Given the description of an element on the screen output the (x, y) to click on. 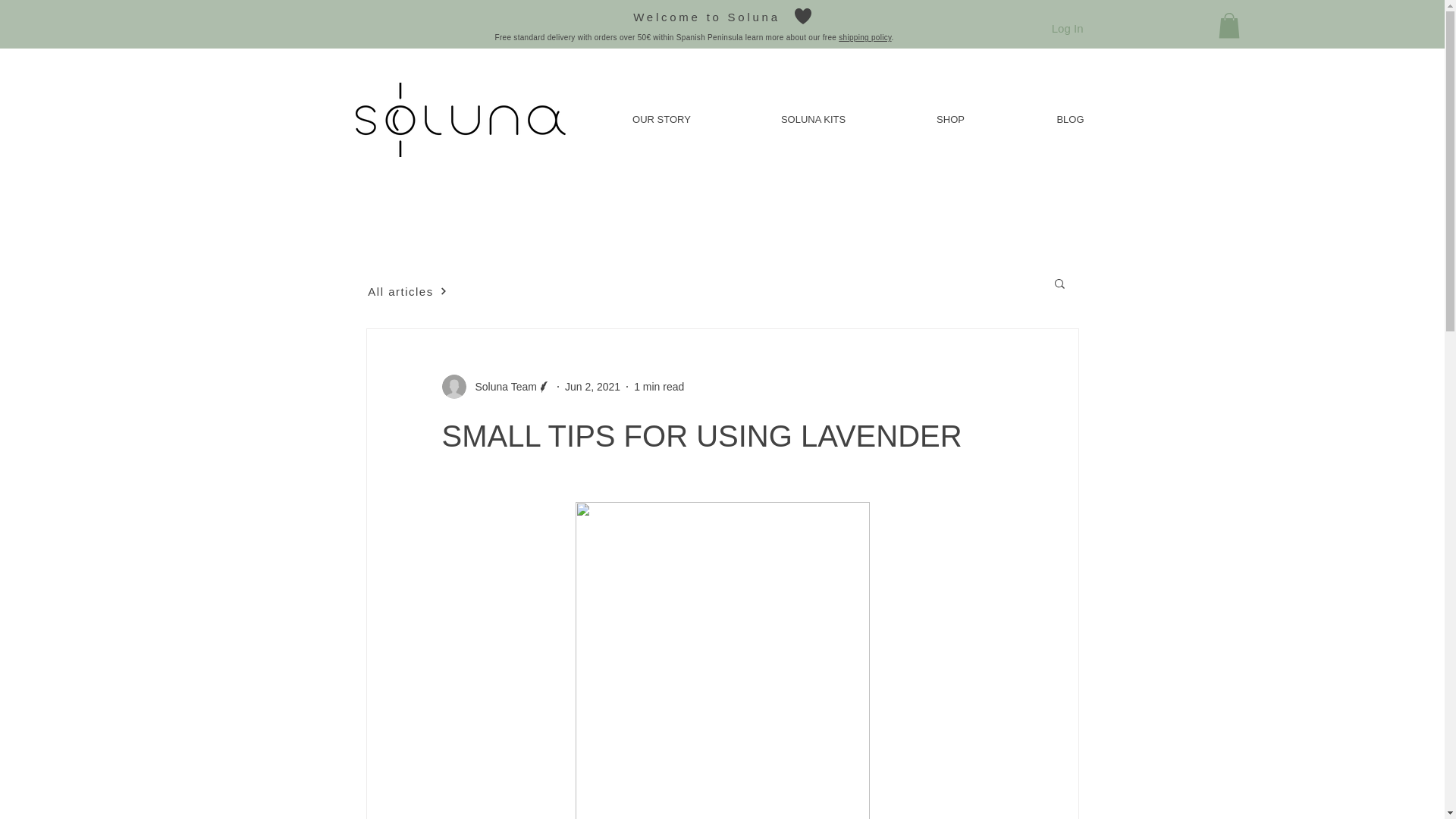
SHOP (949, 119)
SOLUNA KITS (812, 119)
OUR STORY (660, 119)
Soluna Team (500, 386)
Jun 2, 2021 (592, 386)
shipping policy (864, 37)
Log In (1067, 27)
BLOG (1069, 119)
Soluna Team (495, 386)
1 min read (658, 386)
